Given the description of an element on the screen output the (x, y) to click on. 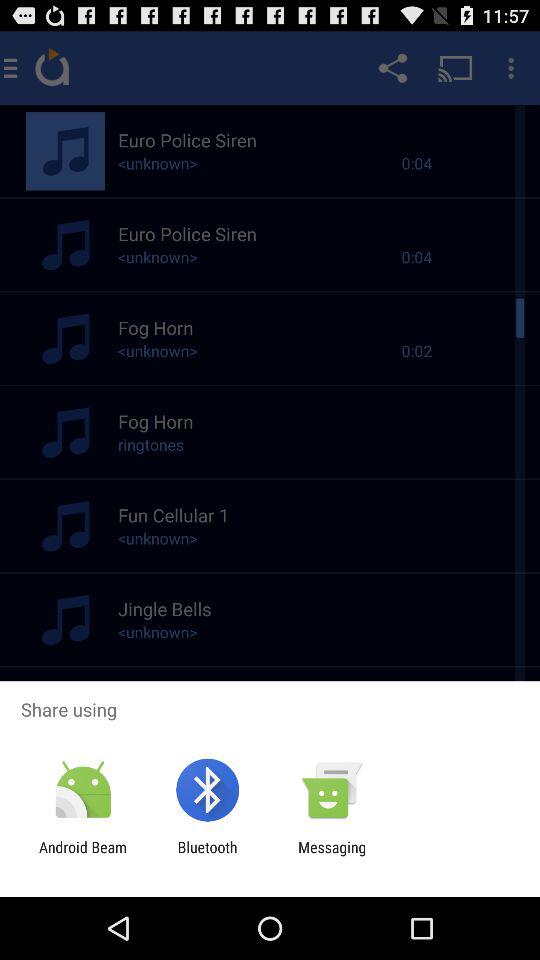
scroll until the bluetooth item (207, 856)
